Given the description of an element on the screen output the (x, y) to click on. 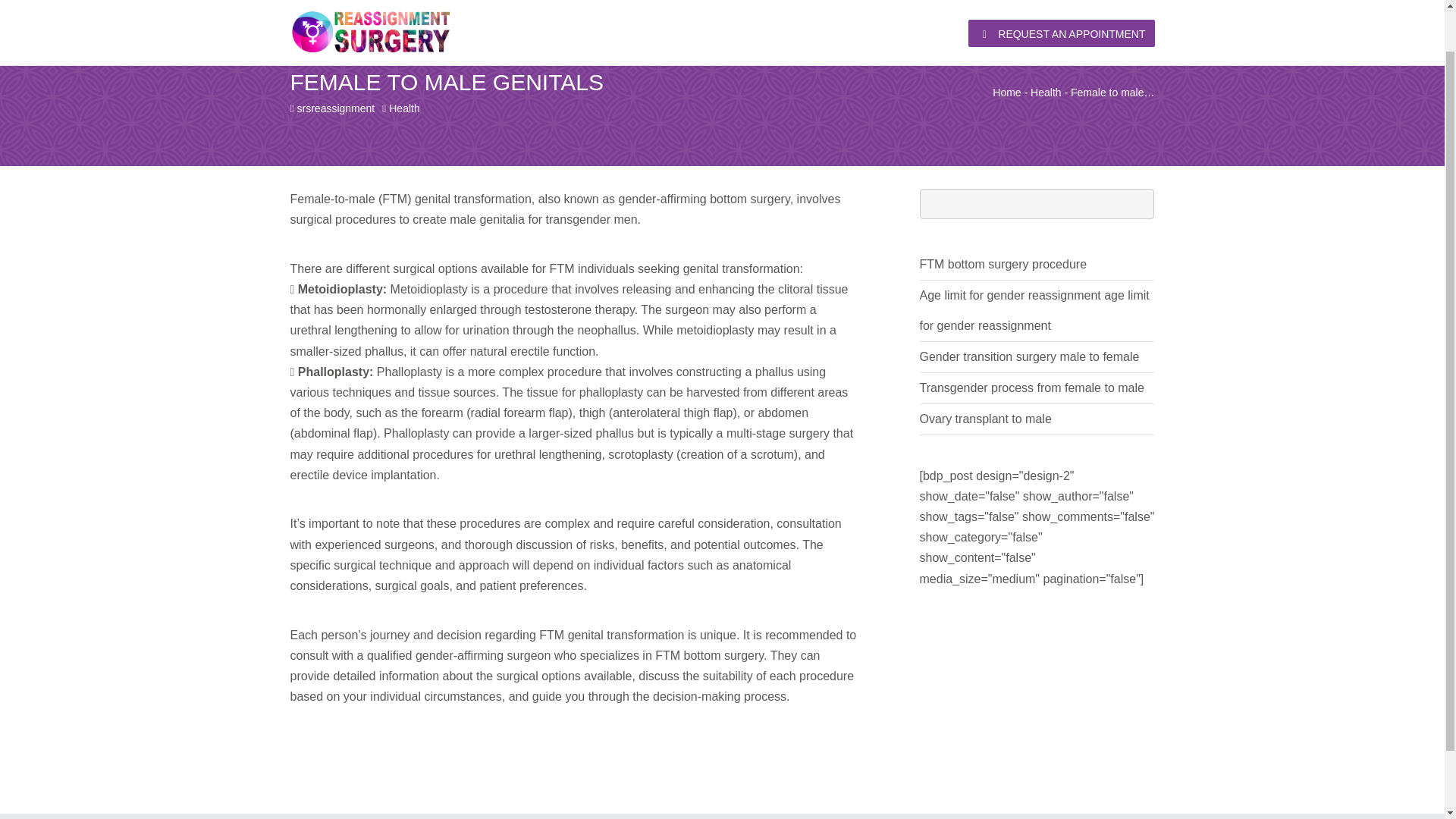
Submit (486, 476)
Transgender process from female to male (1030, 387)
Gender transition surgery male to female (1028, 356)
Home (1006, 92)
Ovary transplant to male (984, 418)
srsreassignment (336, 108)
FTM bottom surgery procedure (1002, 264)
Health (403, 108)
